Given the description of an element on the screen output the (x, y) to click on. 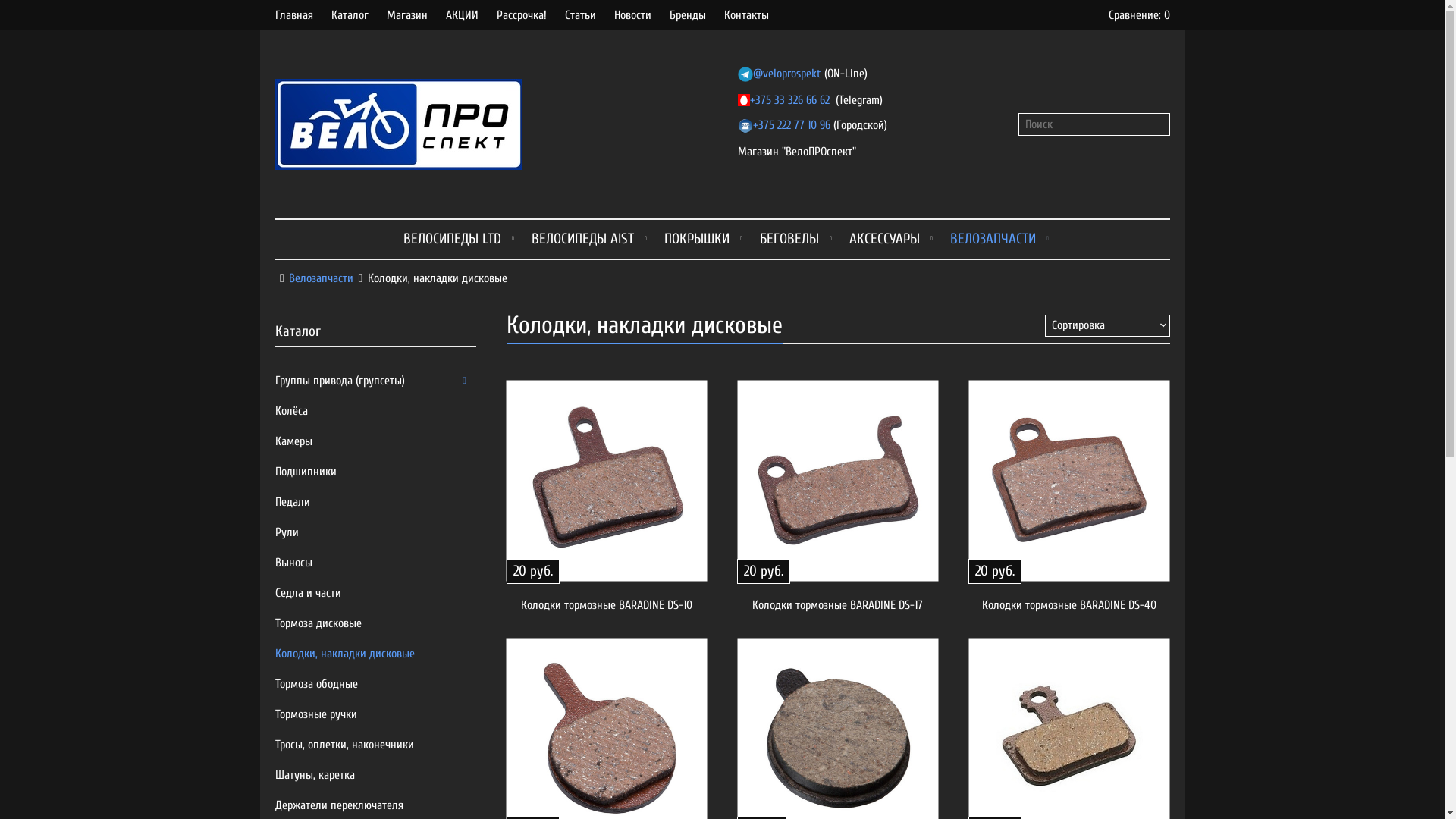
+375 33 326 66 62 Element type: text (788, 99)
+375 222 77 10 96 Element type: text (790, 124)
@veloprospekt Element type: text (786, 73)
